Given the description of an element on the screen output the (x, y) to click on. 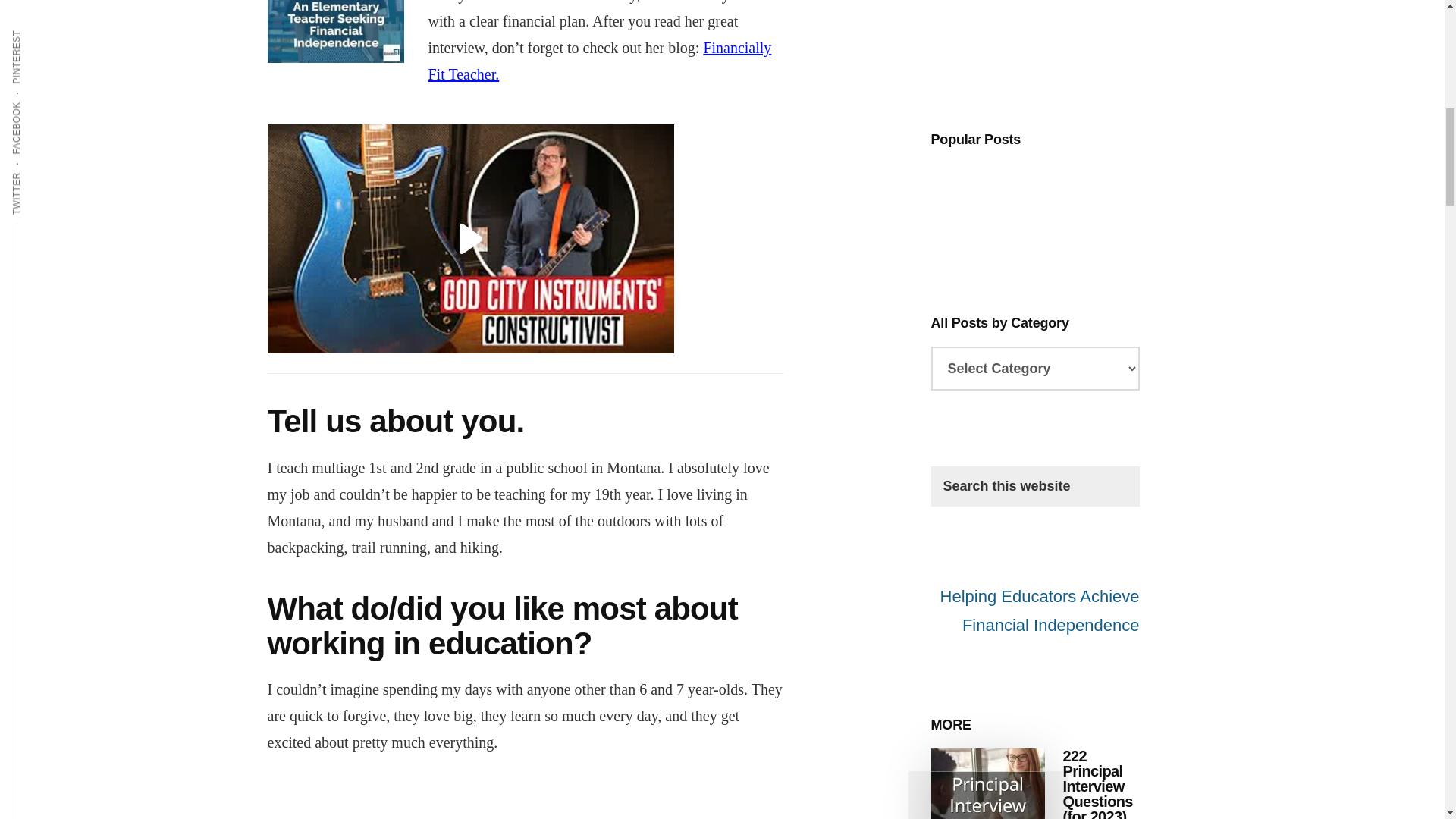
Financially Fit Teacher. (599, 60)
